Given the description of an element on the screen output the (x, y) to click on. 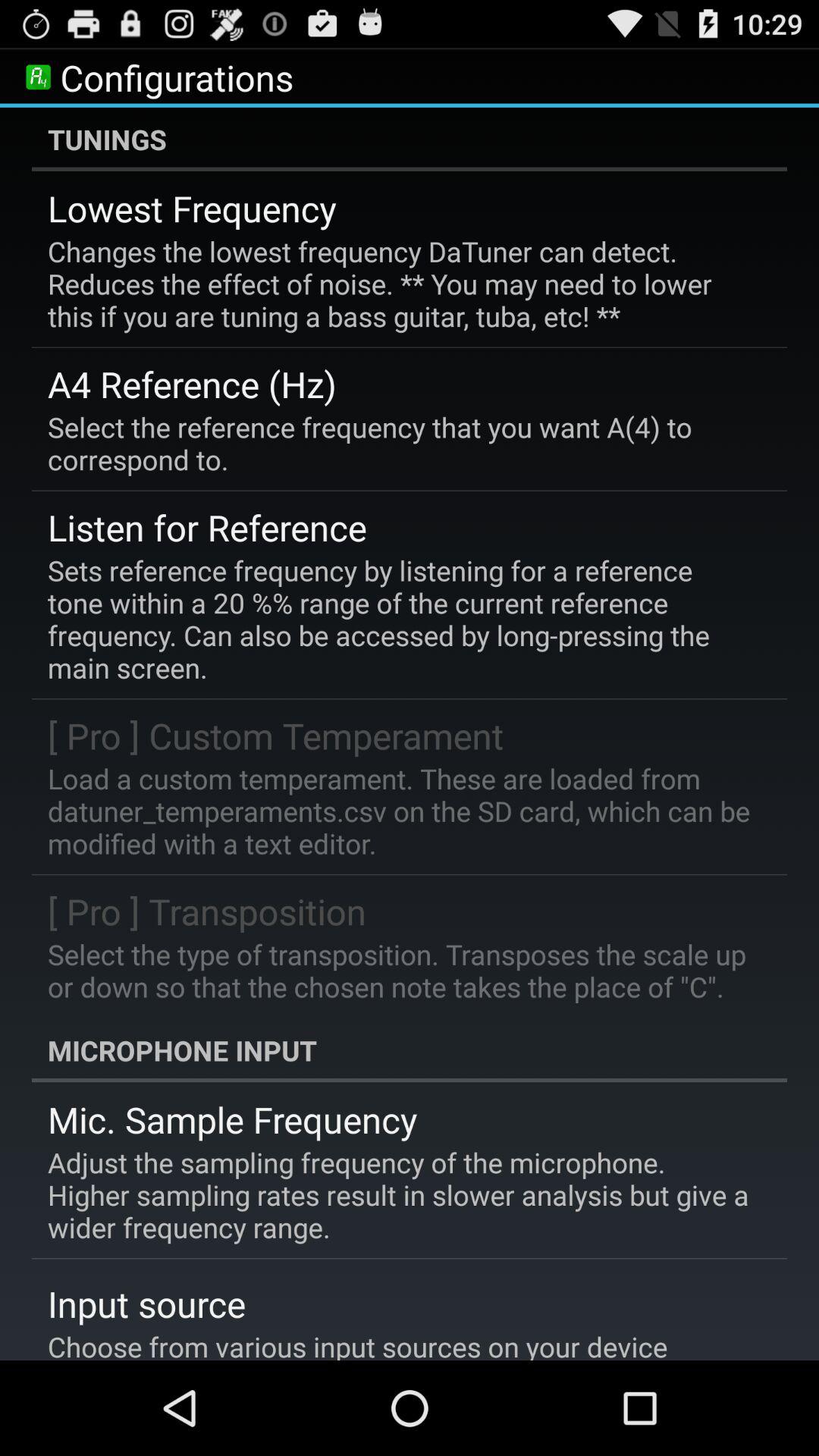
flip until the load a custom icon (399, 810)
